Given the description of an element on the screen output the (x, y) to click on. 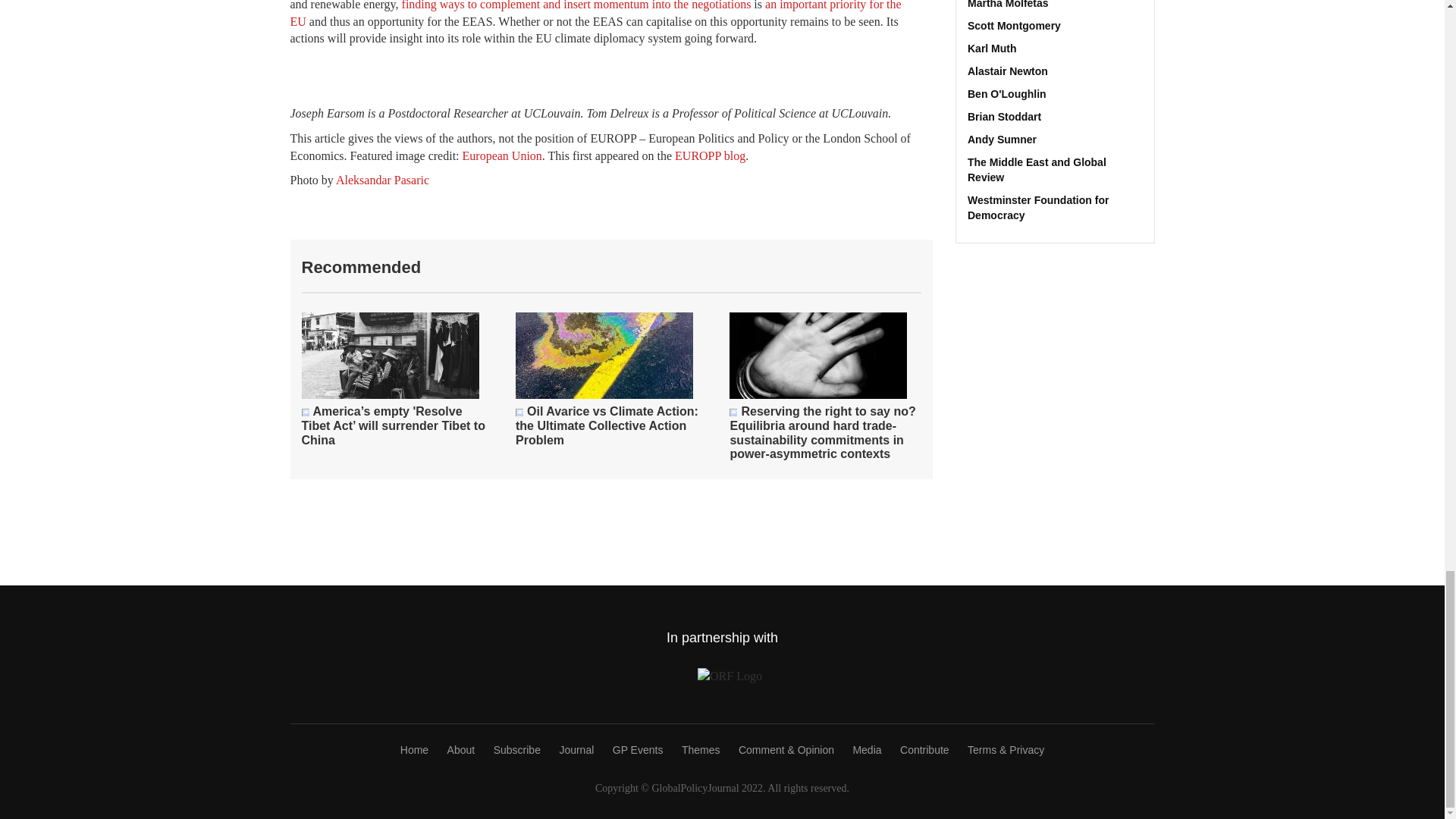
Weight scale (304, 412)
Recycle symbol of three arrows (518, 412)
Recycle symbol of three arrows (732, 412)
